Given the description of an element on the screen output the (x, y) to click on. 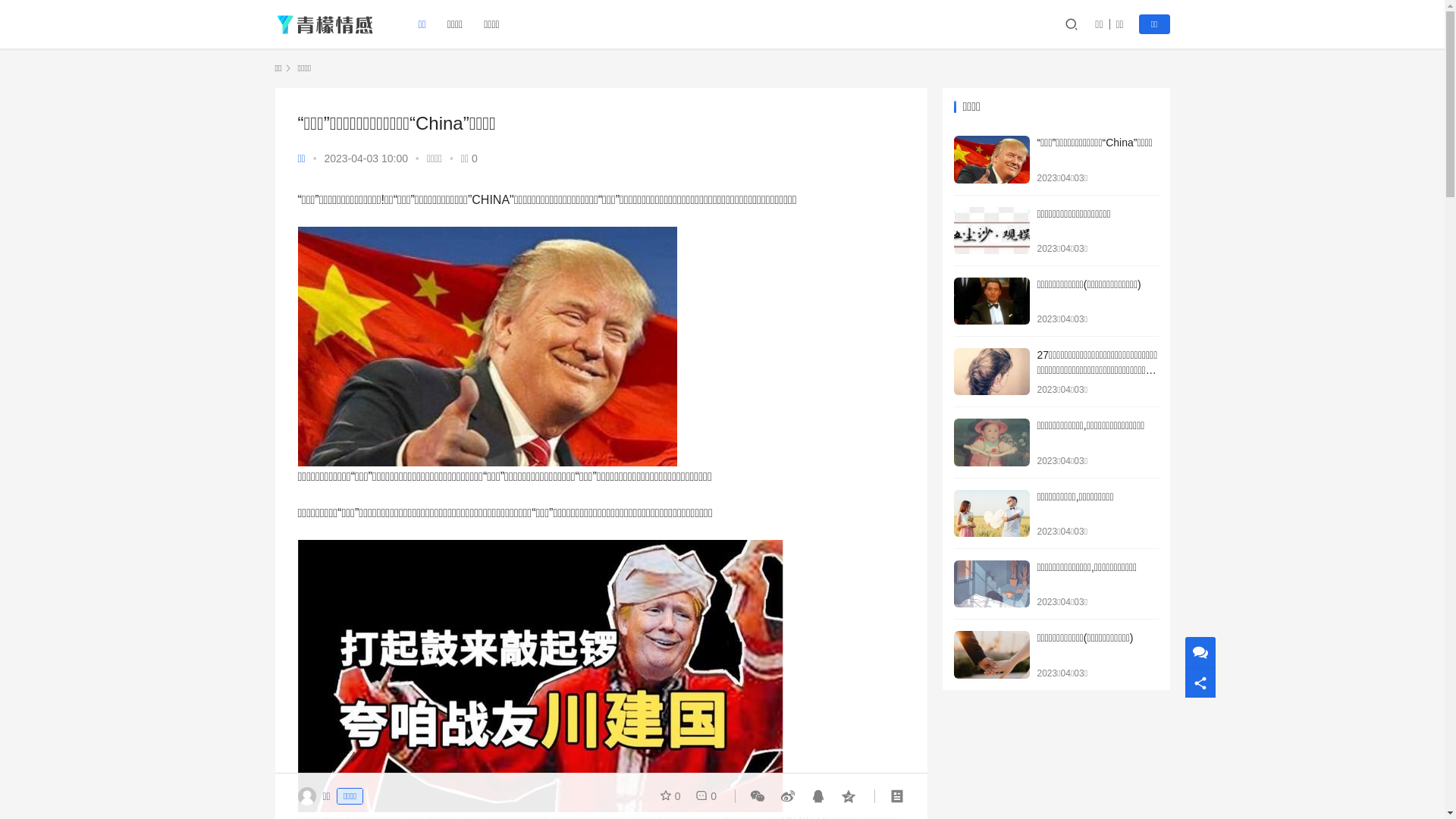
0 Element type: text (673, 796)
0 Element type: text (702, 796)
